Given the description of an element on the screen output the (x, y) to click on. 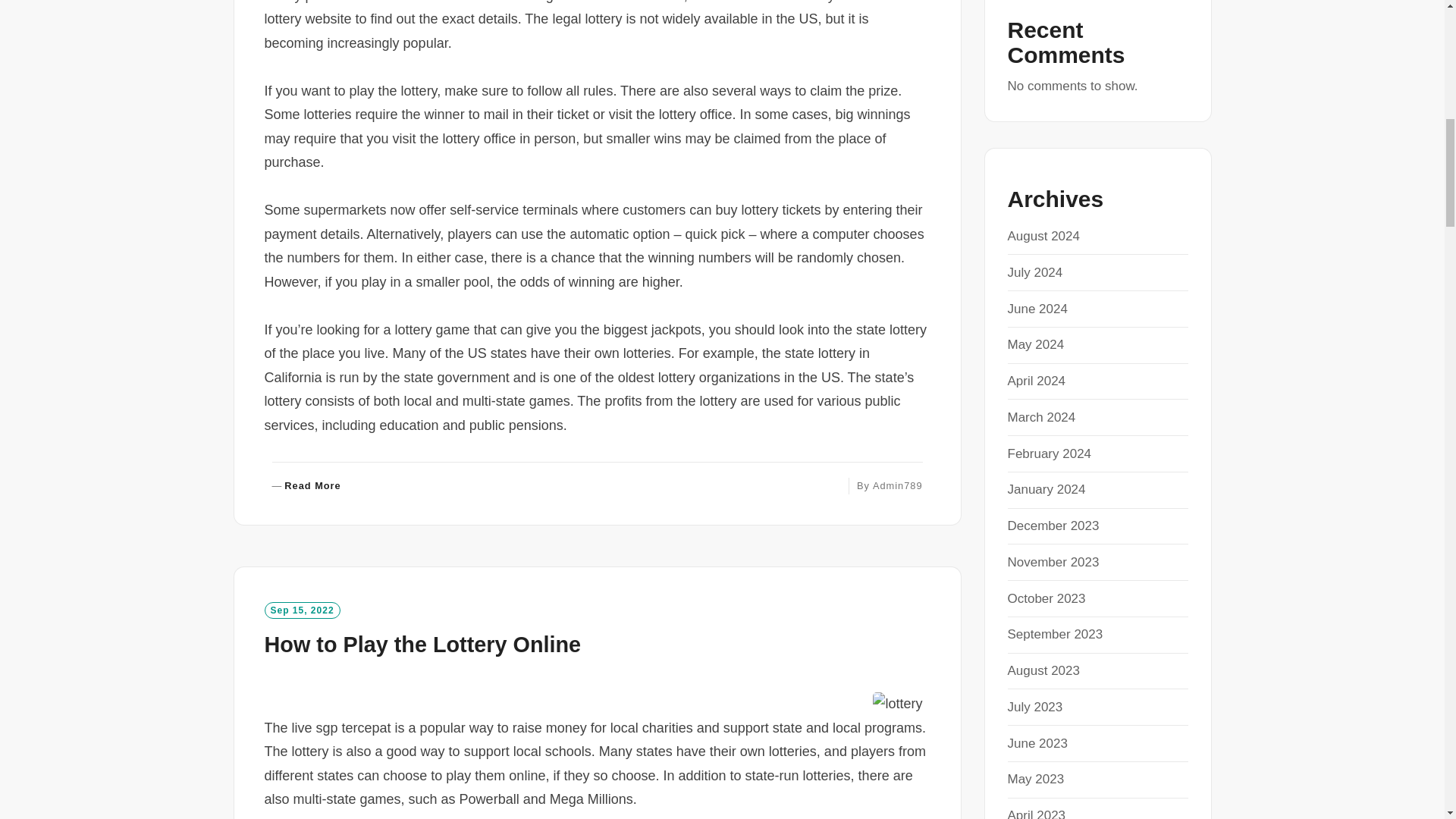
Admin789 (305, 486)
How to Play the Lottery Online (897, 485)
Sep 15, 2022 (421, 644)
